Given the description of an element on the screen output the (x, y) to click on. 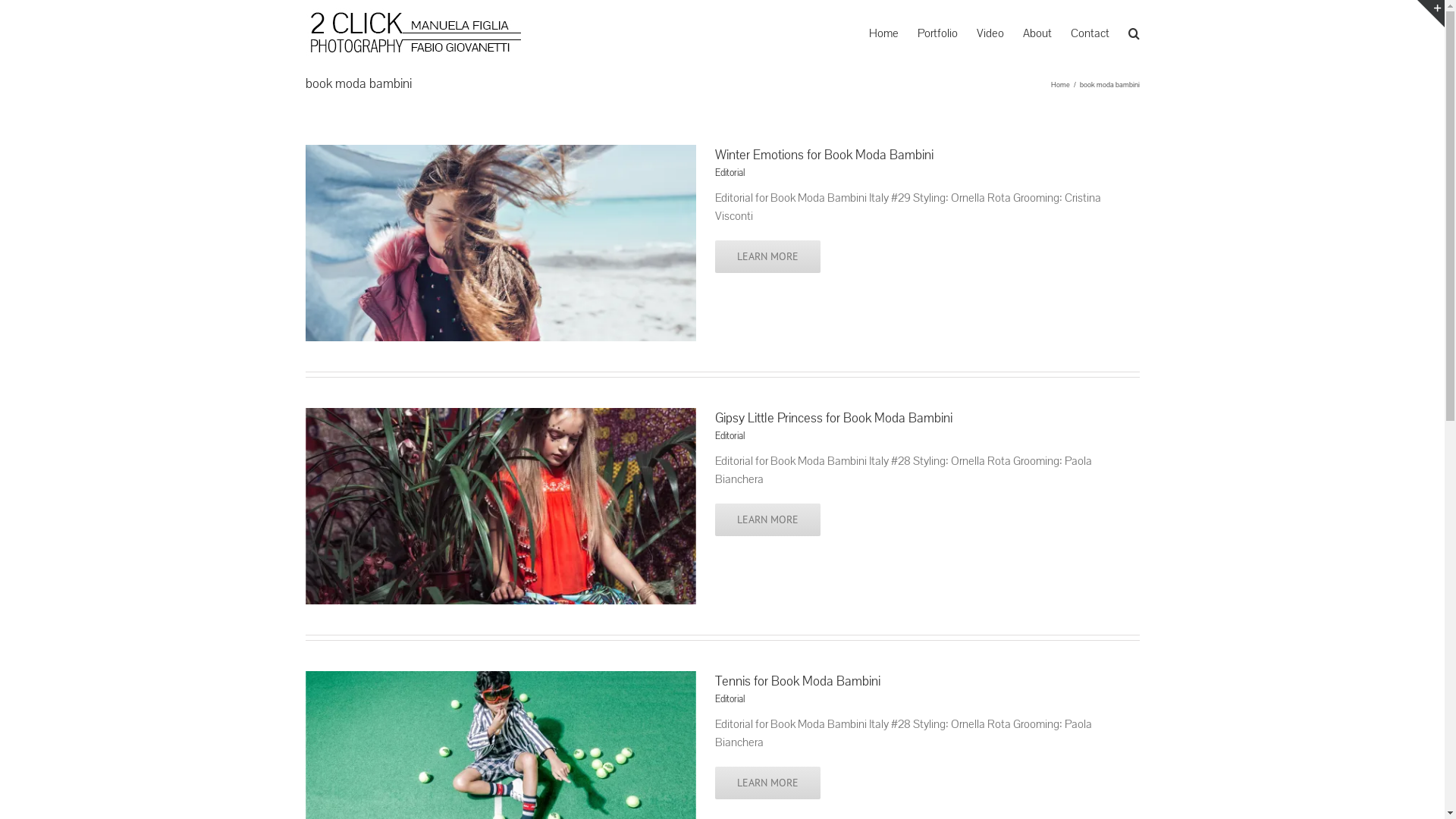
Search Element type: hover (1133, 32)
Editorial Element type: text (729, 172)
LEARN MORE Element type: text (766, 255)
Editorial Element type: text (729, 435)
LEARN MORE Element type: text (766, 781)
Gipsy Little Princess for Book Moda Bambini Element type: text (832, 417)
Toggle Sliding Bar Area Element type: text (1430, 13)
Home Element type: text (883, 32)
About Element type: text (1036, 32)
Contact Element type: text (1089, 32)
Portfolio Element type: text (937, 32)
Home Element type: text (1060, 83)
Video Element type: text (990, 32)
LEARN MORE Element type: text (766, 519)
Editorial Element type: text (729, 699)
Tennis for Book Moda Bambini Element type: text (796, 681)
Winter Emotions for Book Moda Bambini Element type: text (823, 154)
